Given the description of an element on the screen output the (x, y) to click on. 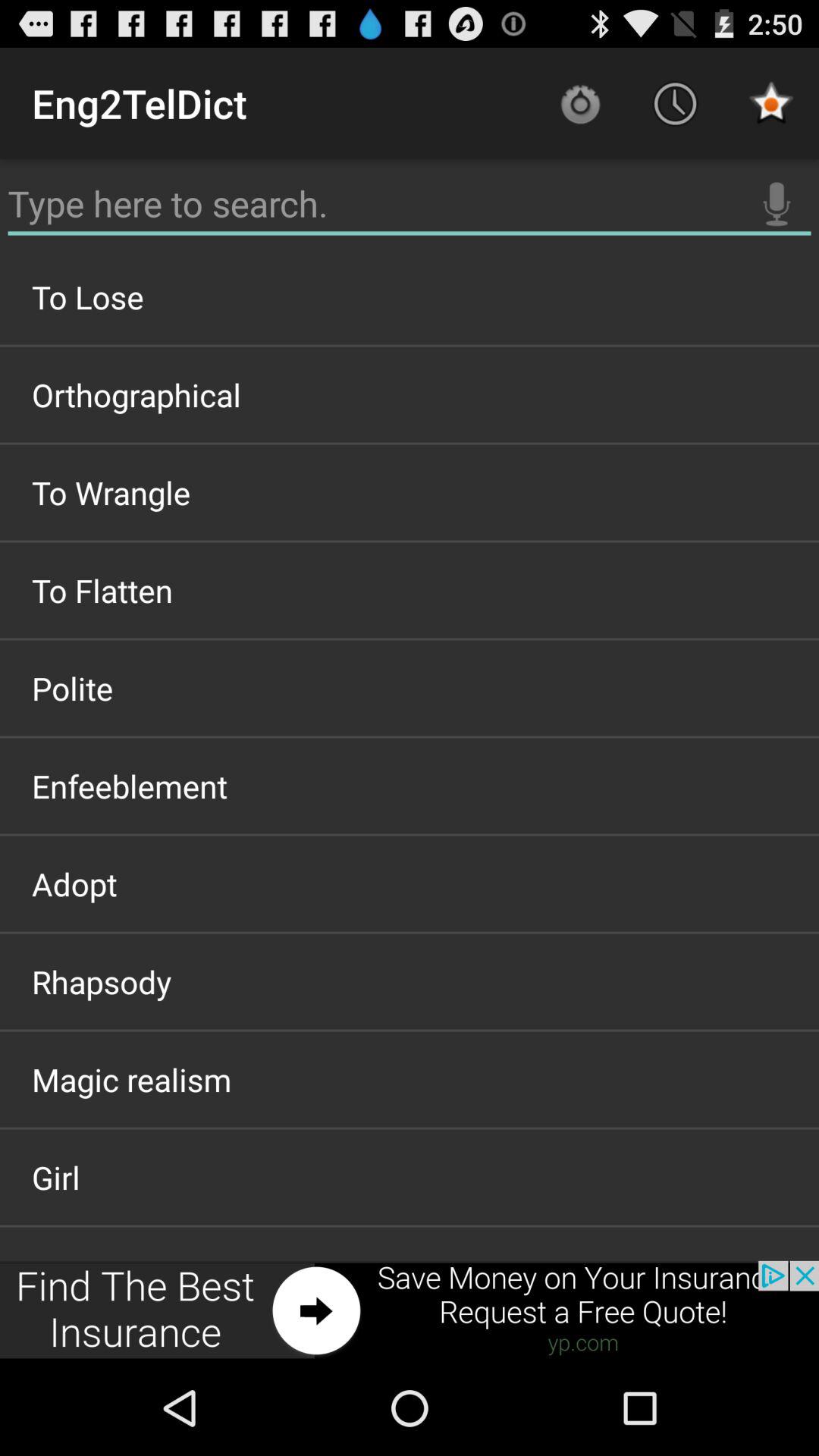
launch the to wrangle (409, 492)
